Given the description of an element on the screen output the (x, y) to click on. 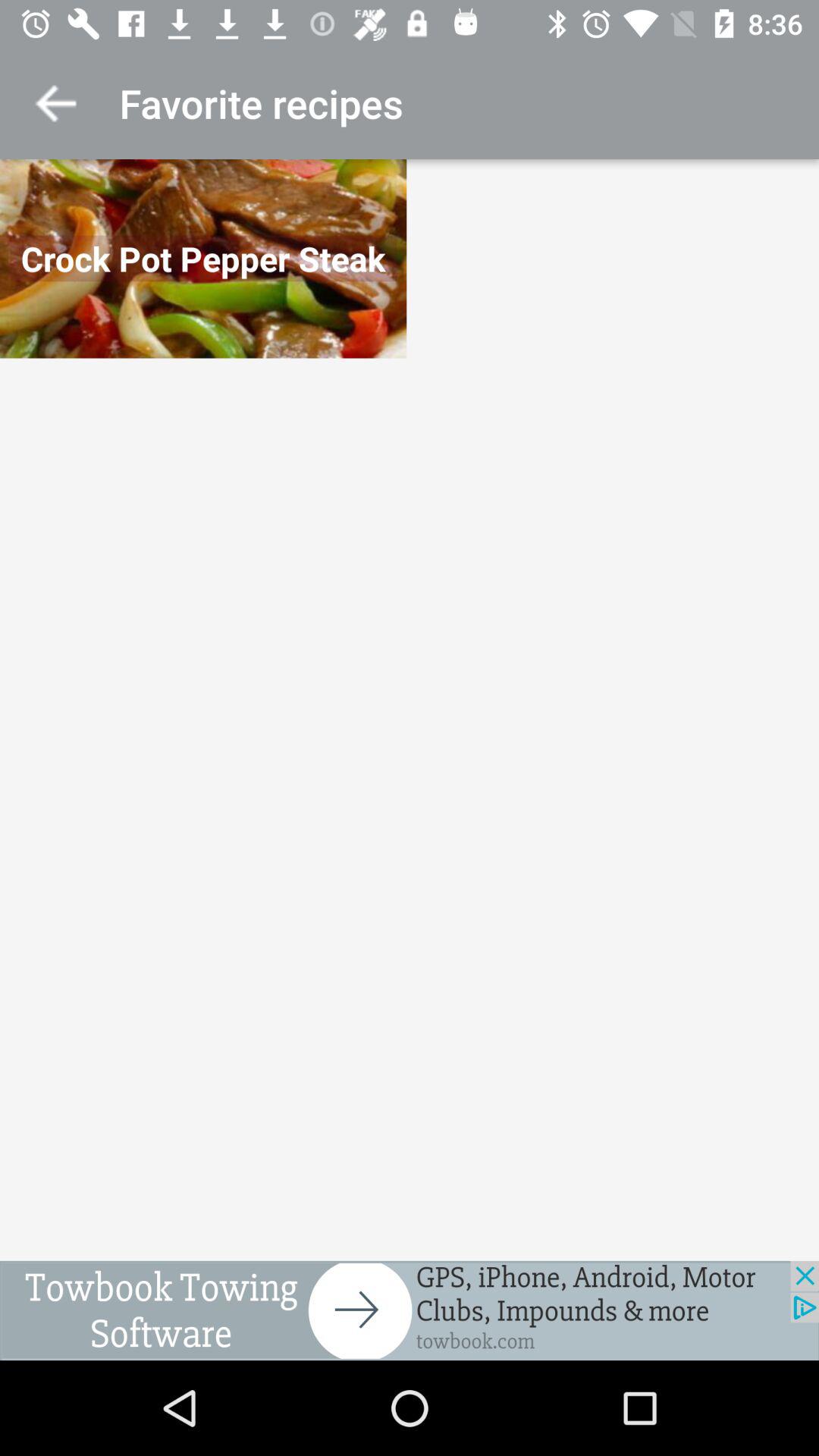
go back (55, 103)
